Given the description of an element on the screen output the (x, y) to click on. 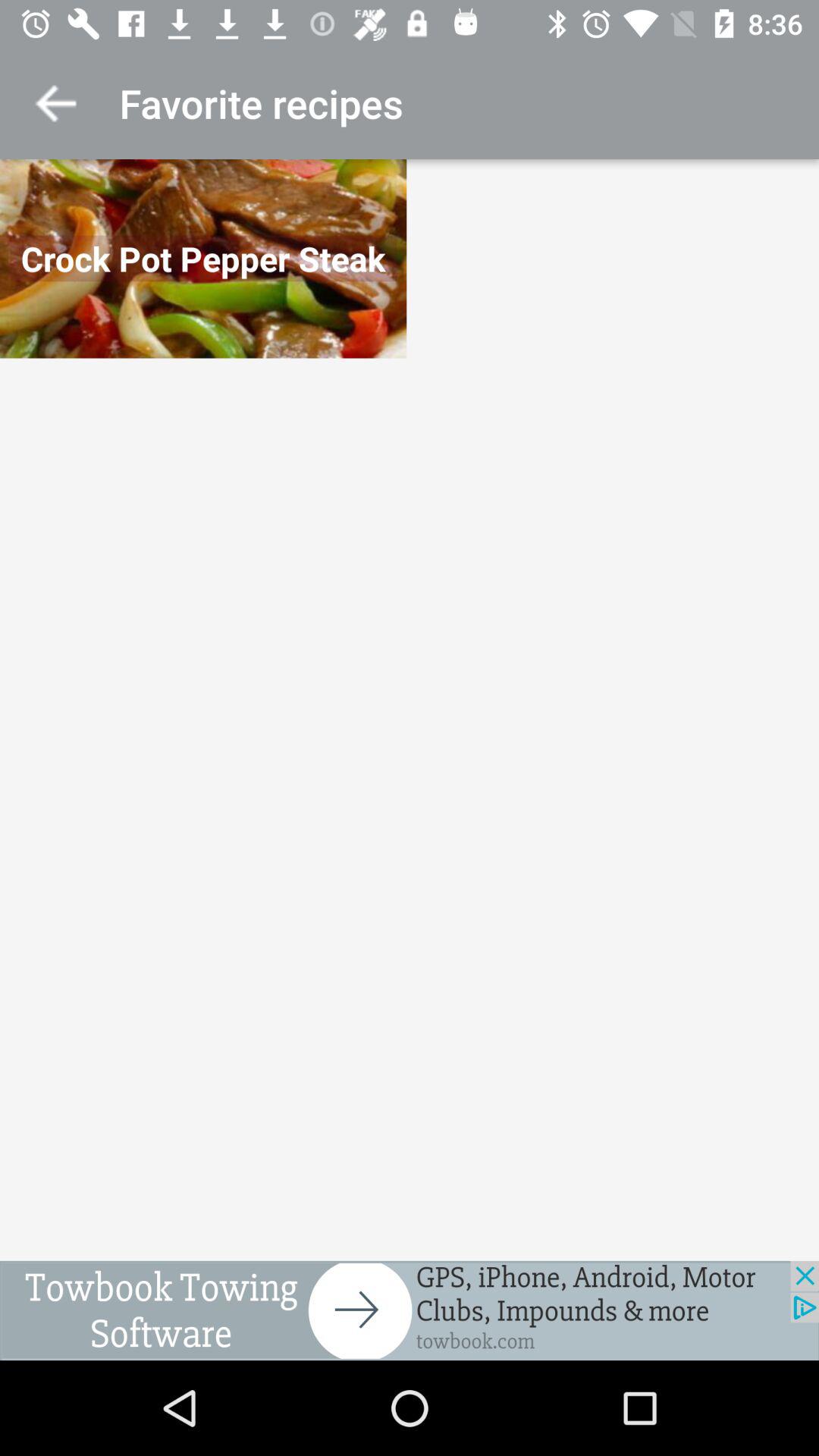
go back (55, 103)
